Given the description of an element on the screen output the (x, y) to click on. 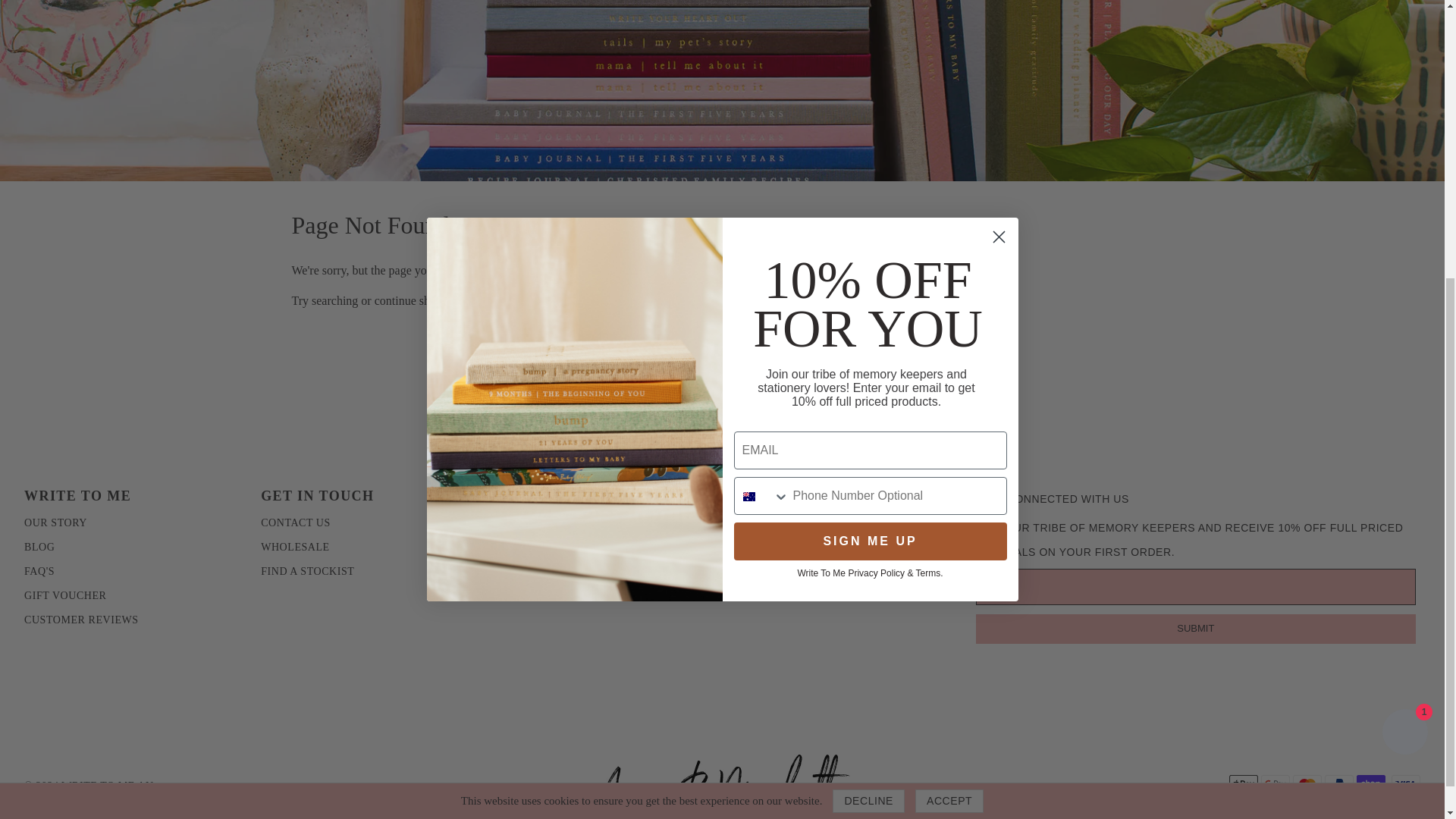
PayPal (1339, 783)
Mastercard (1307, 783)
Shop Pay (1371, 783)
Write To Me AU on TikTok (765, 531)
Apple Pay (1242, 783)
Shopify online store chat (1404, 303)
Write To Me AU on Pinterest (742, 531)
Visa (1406, 783)
Write To Me AU on Instagram (813, 531)
Google Pay (1275, 783)
Australia (748, 66)
Write To Me AU on Facebook (788, 531)
